Given the description of an element on the screen output the (x, y) to click on. 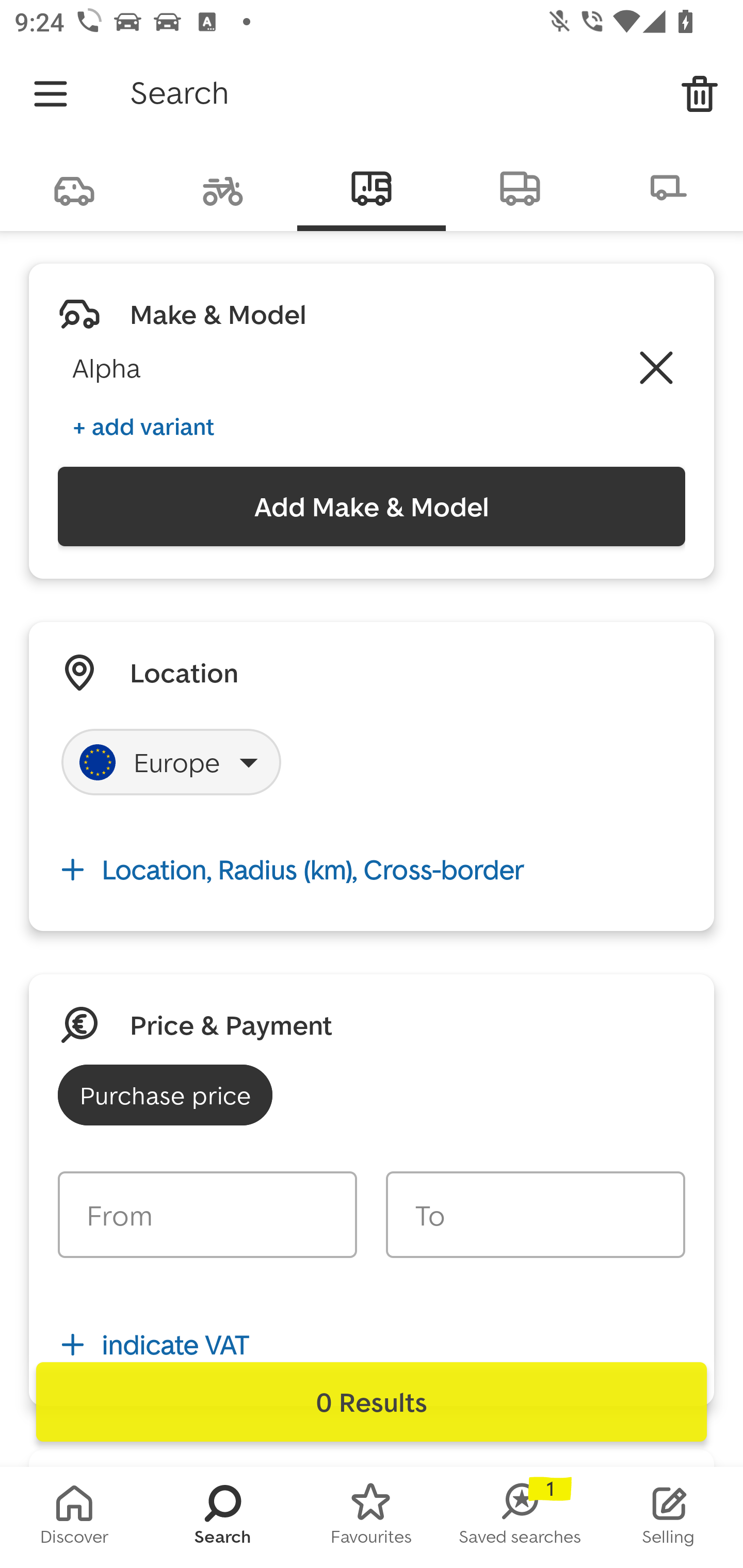
Navigate up (50, 93)
New search (699, 93)
CAR_SEARCH (74, 187)
BIKE_SEARCH (222, 187)
TRUCKS_SEARCH (519, 187)
TRAILERS_SEARCH (668, 187)
Make & Model (218, 314)
+ add variant (143, 426)
Add Make & Model (371, 506)
Location (184, 672)
Europe (170, 761)
Location, Radius (km), Cross-border (371, 869)
Price & Payment (231, 1024)
Purchase price (164, 1094)
From (207, 1214)
To (535, 1214)
indicate VAT (371, 1344)
0 Results (371, 1401)
HOMESCREEN Discover (74, 1517)
SEARCH Search (222, 1517)
FAVORITES Favourites (371, 1517)
SAVED_SEARCHES Saved searches 1 (519, 1517)
STOCK_LIST Selling (668, 1517)
